Given the description of an element on the screen output the (x, y) to click on. 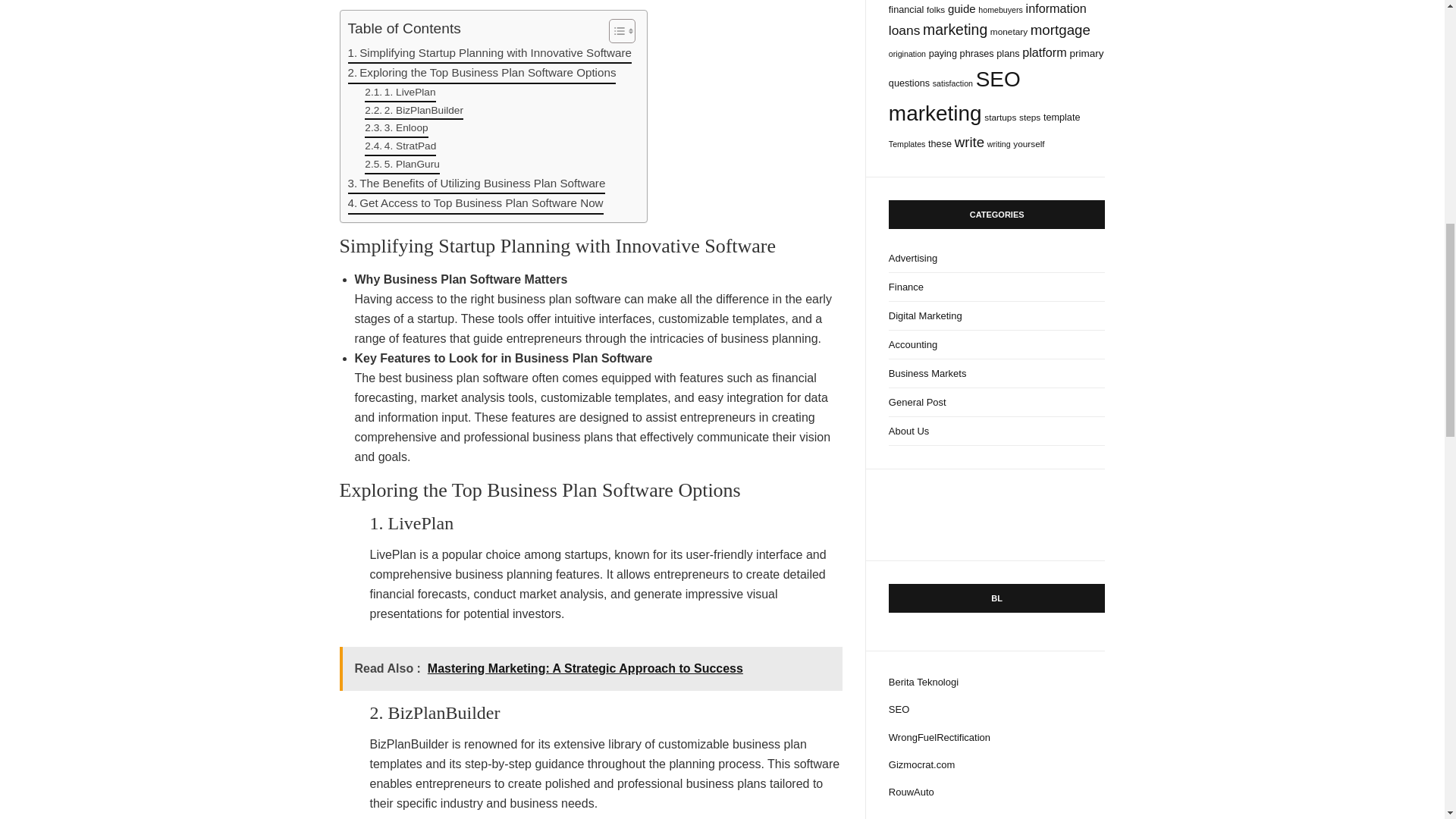
The Benefits of Utilizing Business Plan Software (476, 184)
2. BizPlanBuilder (414, 111)
5. PlanGuru (402, 165)
Get Access to Top Business Plan Software Now (474, 203)
2. BizPlanBuilder (414, 111)
4. StratPad (400, 147)
1. LivePlan (400, 93)
5. PlanGuru (402, 165)
Get Access to Top Business Plan Software Now (474, 203)
1. LivePlan (400, 93)
3. Enloop (396, 128)
The Benefits of Utilizing Business Plan Software (476, 184)
Exploring the Top Business Plan Software Options (481, 73)
Simplifying Startup Planning with Innovative Software (489, 53)
